Given the description of an element on the screen output the (x, y) to click on. 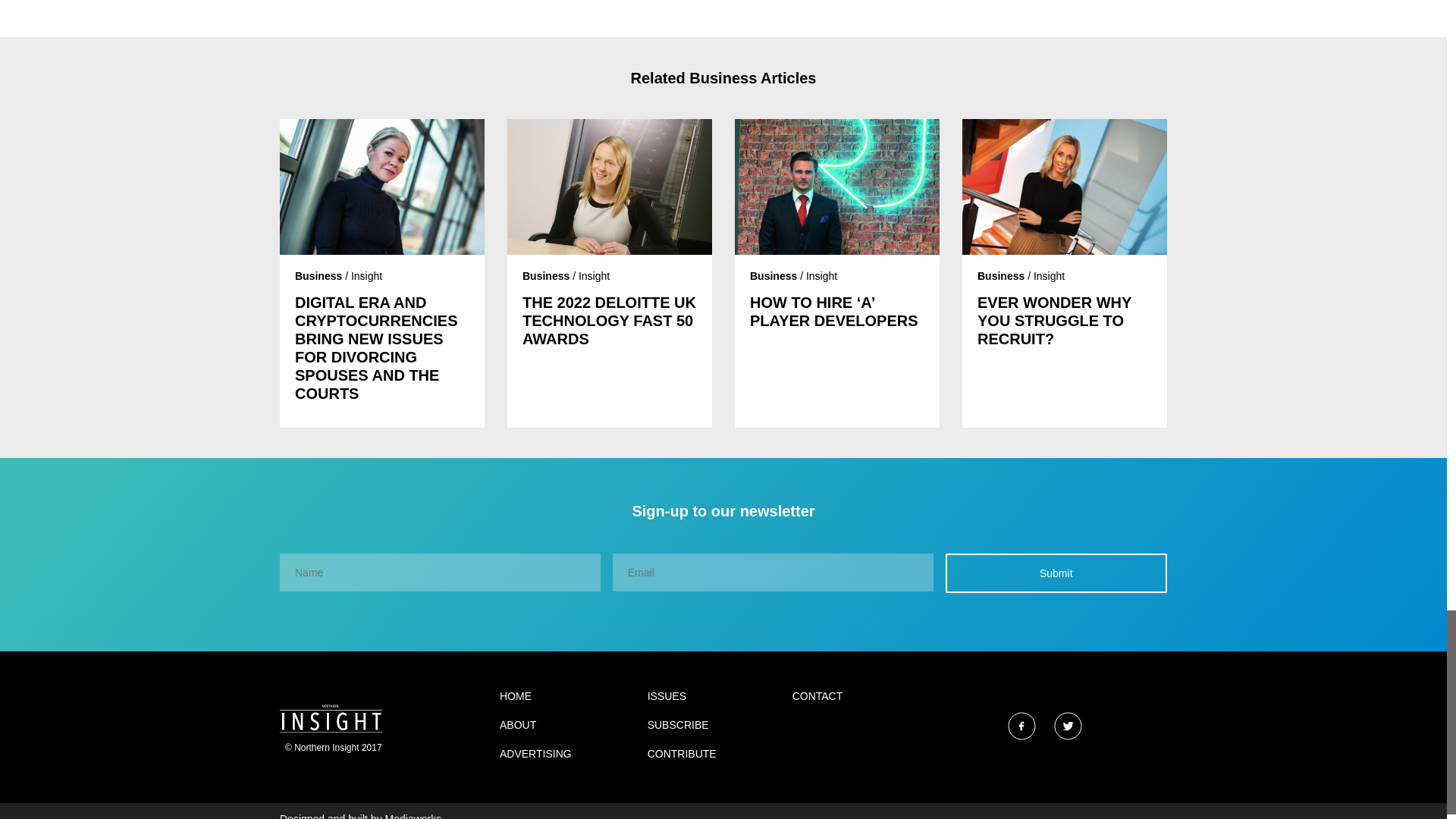
Submit (1055, 572)
Submit (1055, 572)
EVER WONDER WHY YOU STRUGGLE TO RECRUIT? (1063, 320)
THE 2022 DELOITTE UK TECHNOLOGY FAST 50 AWARDS (609, 320)
